Given the description of an element on the screen output the (x, y) to click on. 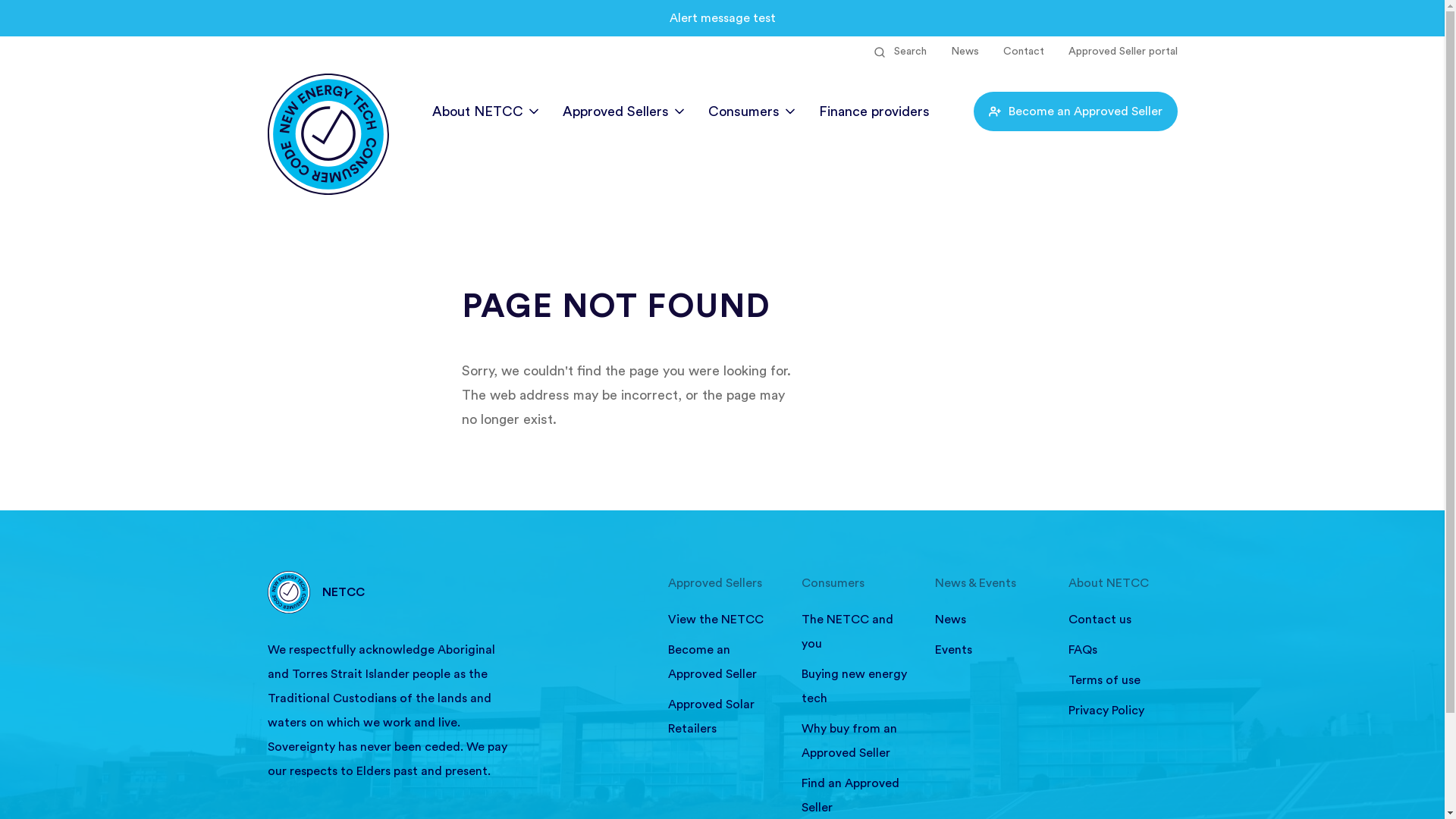
FAQs Element type: text (1121, 649)
Contact Element type: text (1022, 51)
Approved Sellers Element type: text (721, 583)
Contact us Element type: text (1121, 619)
Approved Solar Retailers Element type: text (721, 716)
Buying new energy tech Element type: text (855, 686)
Become an Approved Seller Element type: text (721, 661)
News & Events Element type: text (988, 583)
The NETCC and you Element type: text (855, 631)
News Element type: text (964, 51)
Become an Approved Seller Element type: text (1075, 111)
Privacy Policy Element type: text (1121, 710)
News Element type: text (988, 619)
Approved Sellers Element type: text (623, 111)
View the NETCC Element type: text (721, 619)
Events Element type: text (988, 649)
About NETCC Element type: text (1121, 583)
Why buy from an Approved Seller Element type: text (855, 740)
NETCC Element type: hover (327, 103)
Search Element type: text (899, 51)
Consumers Element type: text (751, 111)
NETCC Element type: text (454, 592)
Finance providers Element type: text (874, 111)
About NETCC Element type: text (485, 111)
Terms of use Element type: text (1121, 680)
Approved Seller portal Element type: text (1121, 51)
Consumers Element type: text (855, 583)
